Given the description of an element on the screen output the (x, y) to click on. 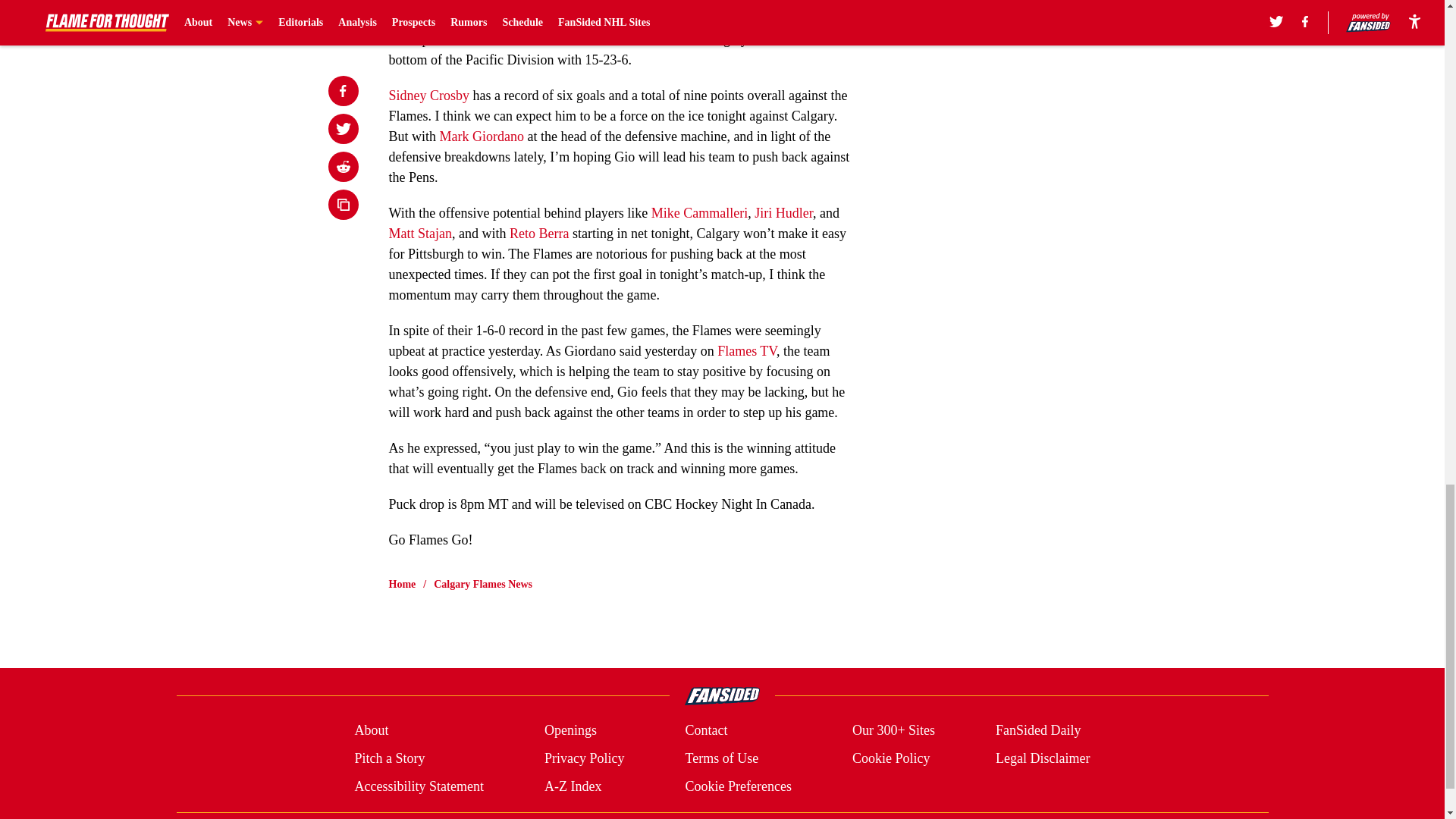
About (370, 730)
Sidney Crosby (428, 95)
Pitch a Story (389, 758)
Mark Giordano (481, 136)
Openings (570, 730)
Flames TV (746, 350)
Privacy Policy (584, 758)
Mike Cammalleri (699, 212)
Jiri Hudler (783, 212)
Cookie Policy (890, 758)
